Given the description of an element on the screen output the (x, y) to click on. 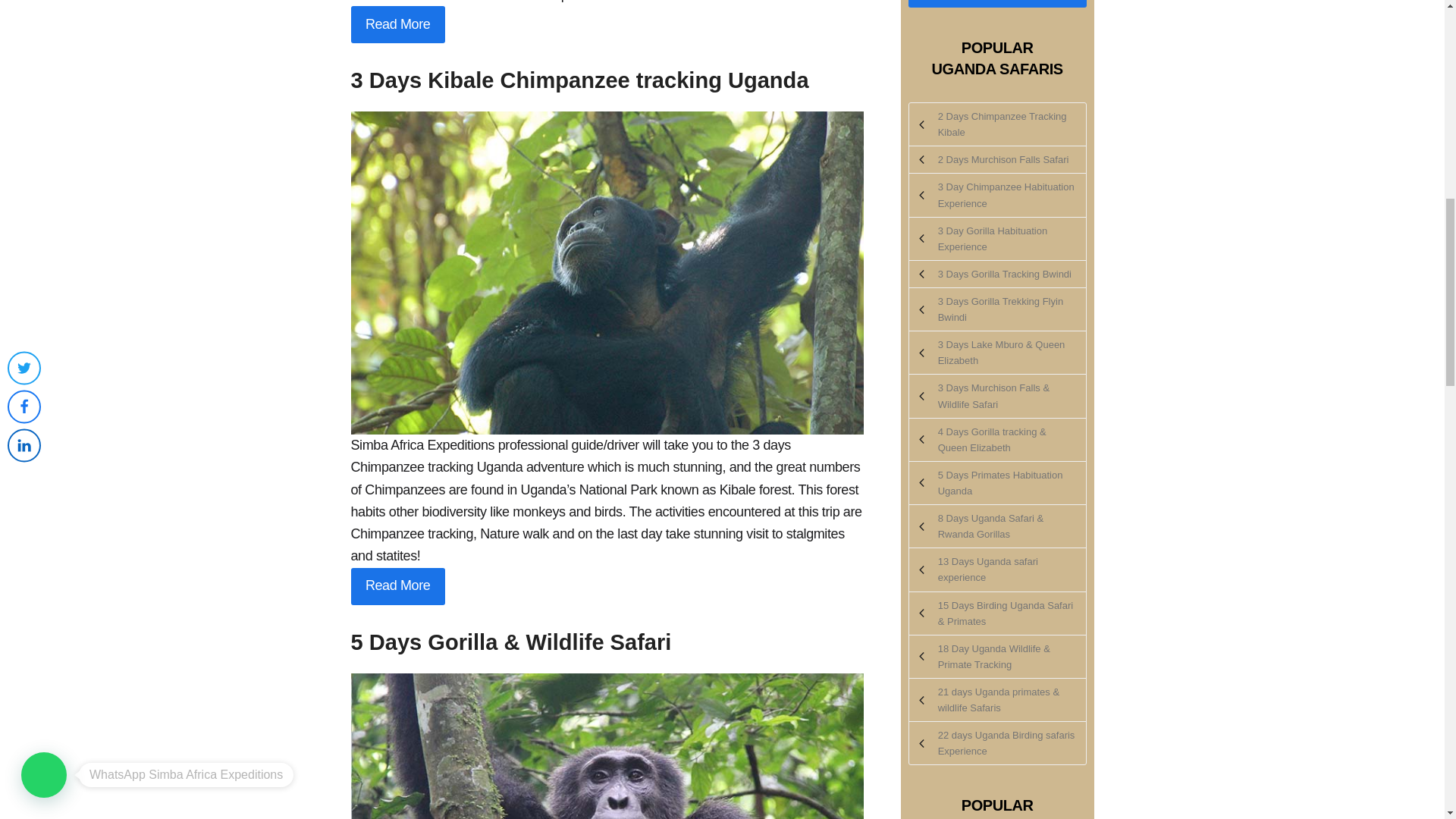
Submit Enquiry (997, 3)
